Given the description of an element on the screen output the (x, y) to click on. 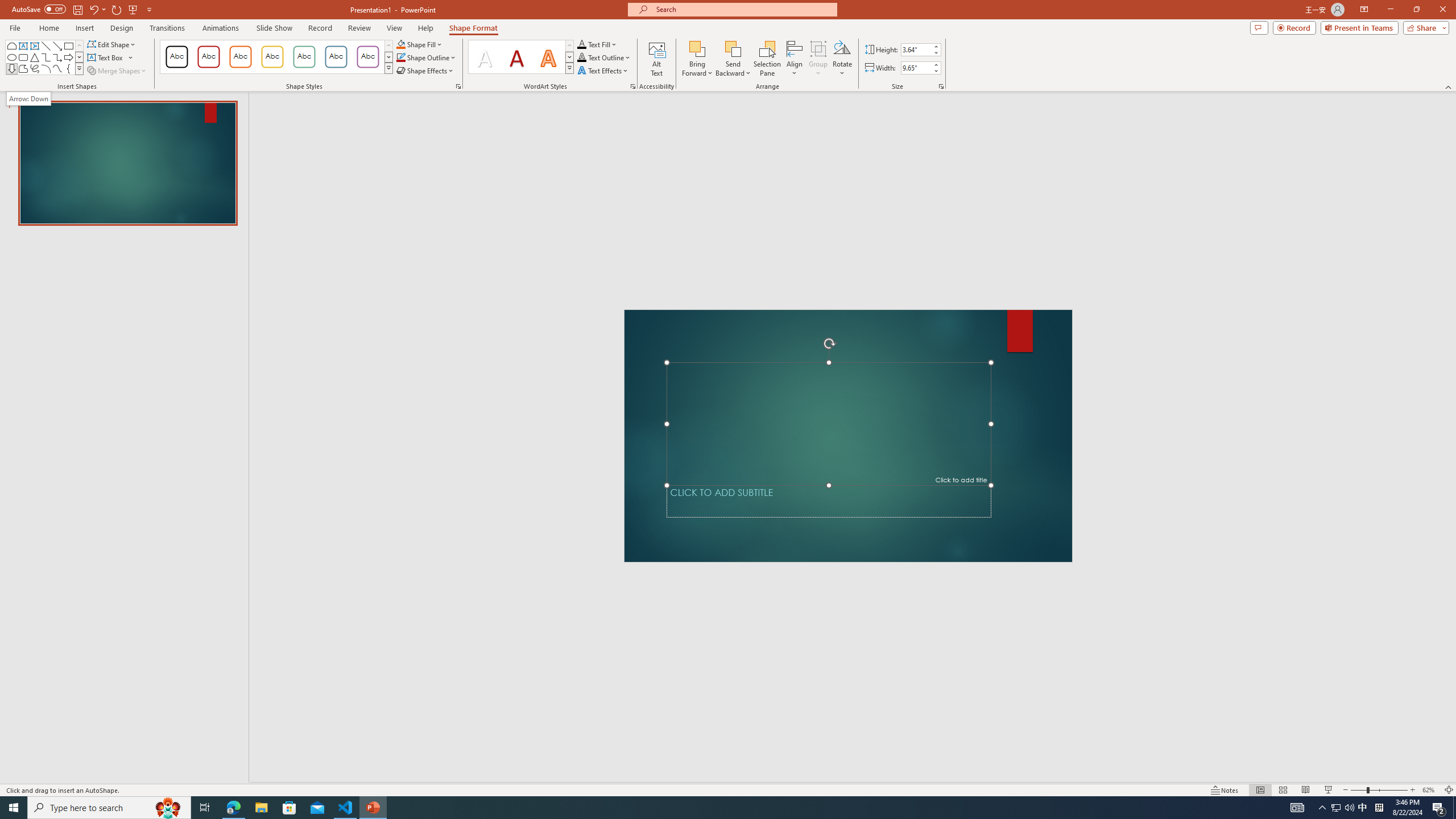
Line Arrow (57, 45)
Shape Outline (426, 56)
Colored Outline - Purple, Accent 6 (368, 56)
Shape Outline Blue, Accent 1 (400, 56)
Text Fill RGB(0, 0, 0) (581, 44)
Text Fill (596, 44)
Colored Outline - Dark Red, Accent 1 (208, 56)
